Given the description of an element on the screen output the (x, y) to click on. 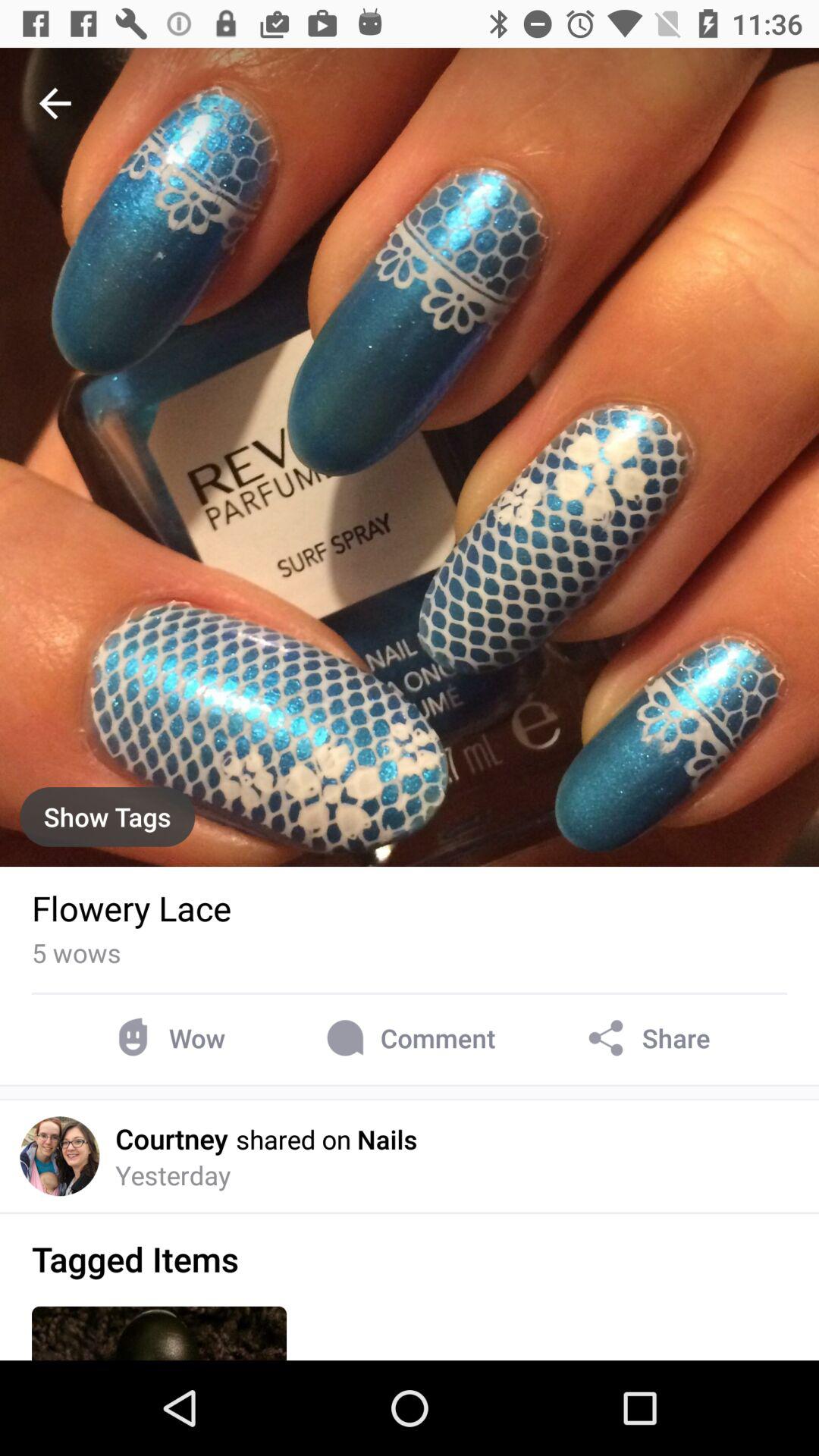
choose icon at the top left corner (55, 103)
